Given the description of an element on the screen output the (x, y) to click on. 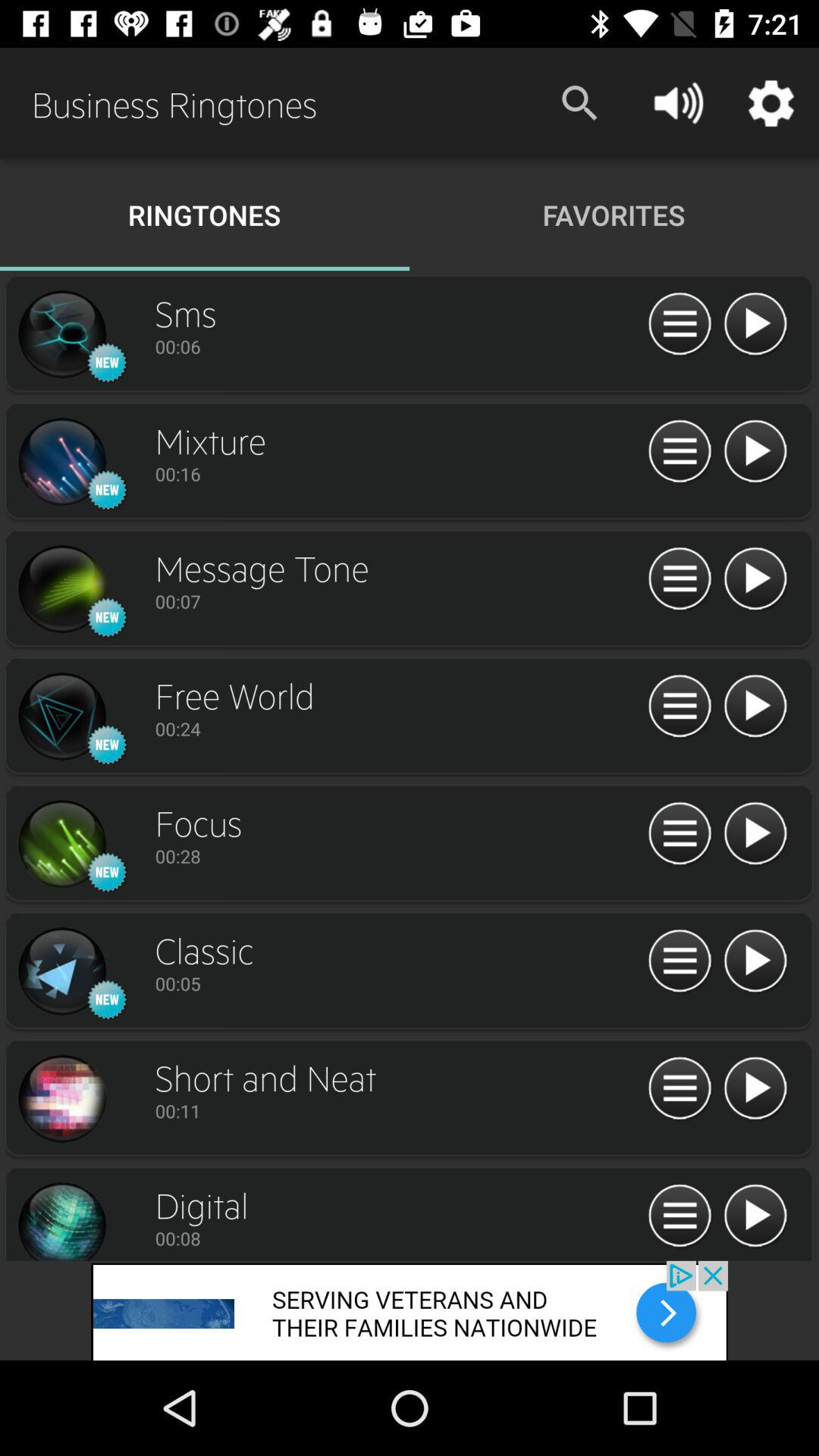
see larger image (61, 334)
